Given the description of an element on the screen output the (x, y) to click on. 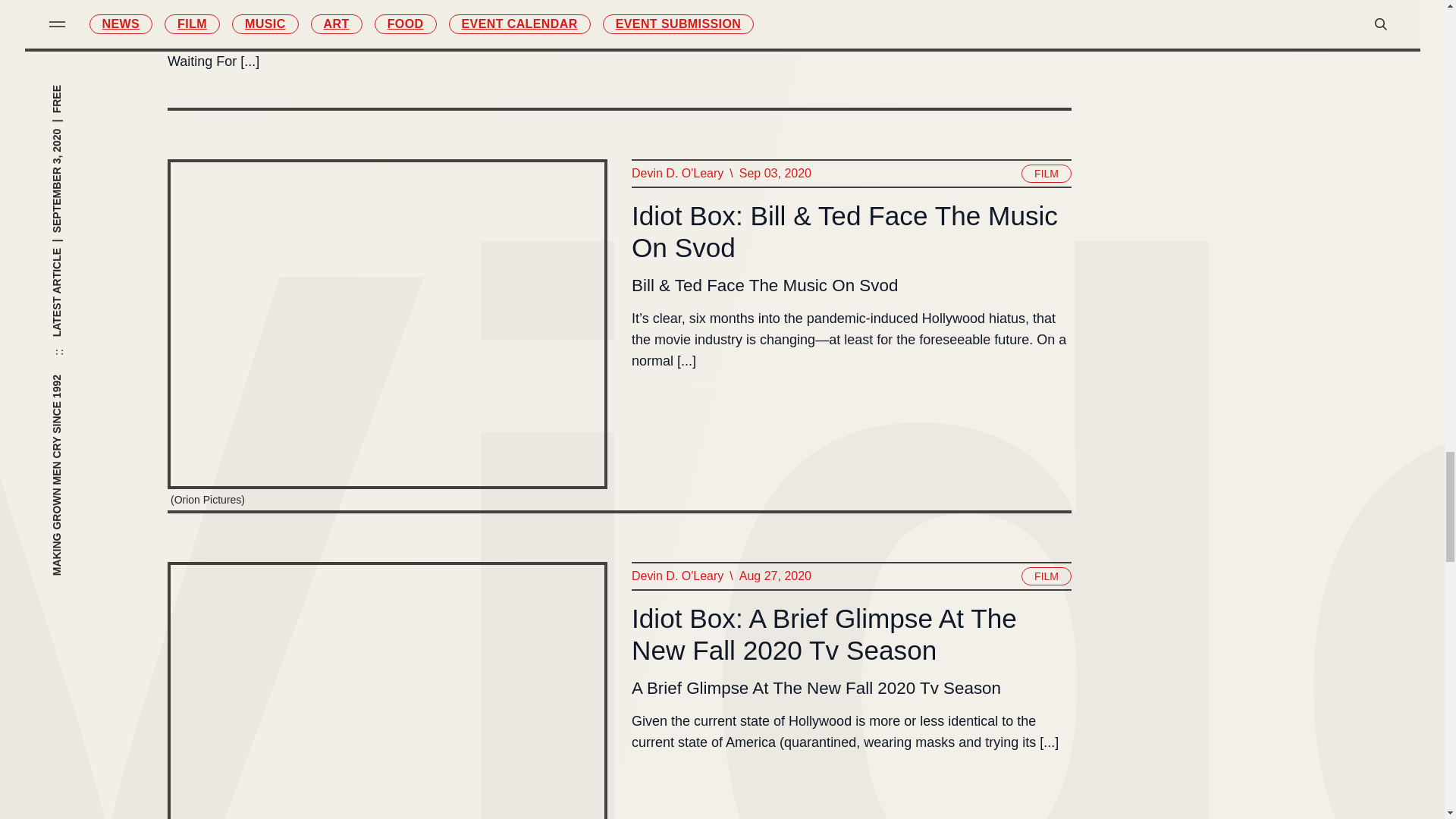
Devin D. O'Leary (676, 576)
Devin D. O'Leary (676, 173)
FILM (1046, 576)
FILM (1046, 173)
